Given the description of an element on the screen output the (x, y) to click on. 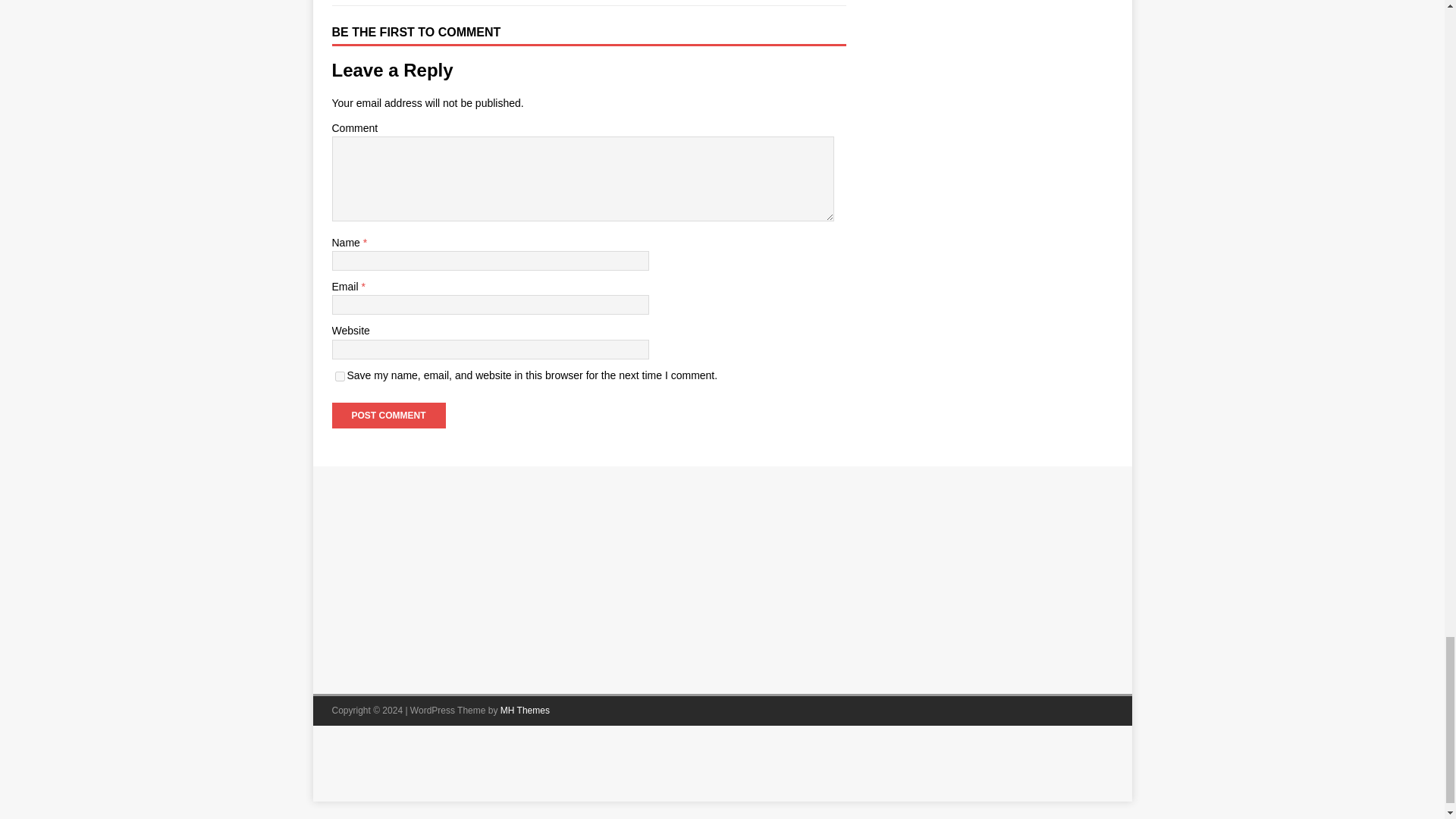
yes (339, 376)
Post Comment (388, 415)
